Given the description of an element on the screen output the (x, y) to click on. 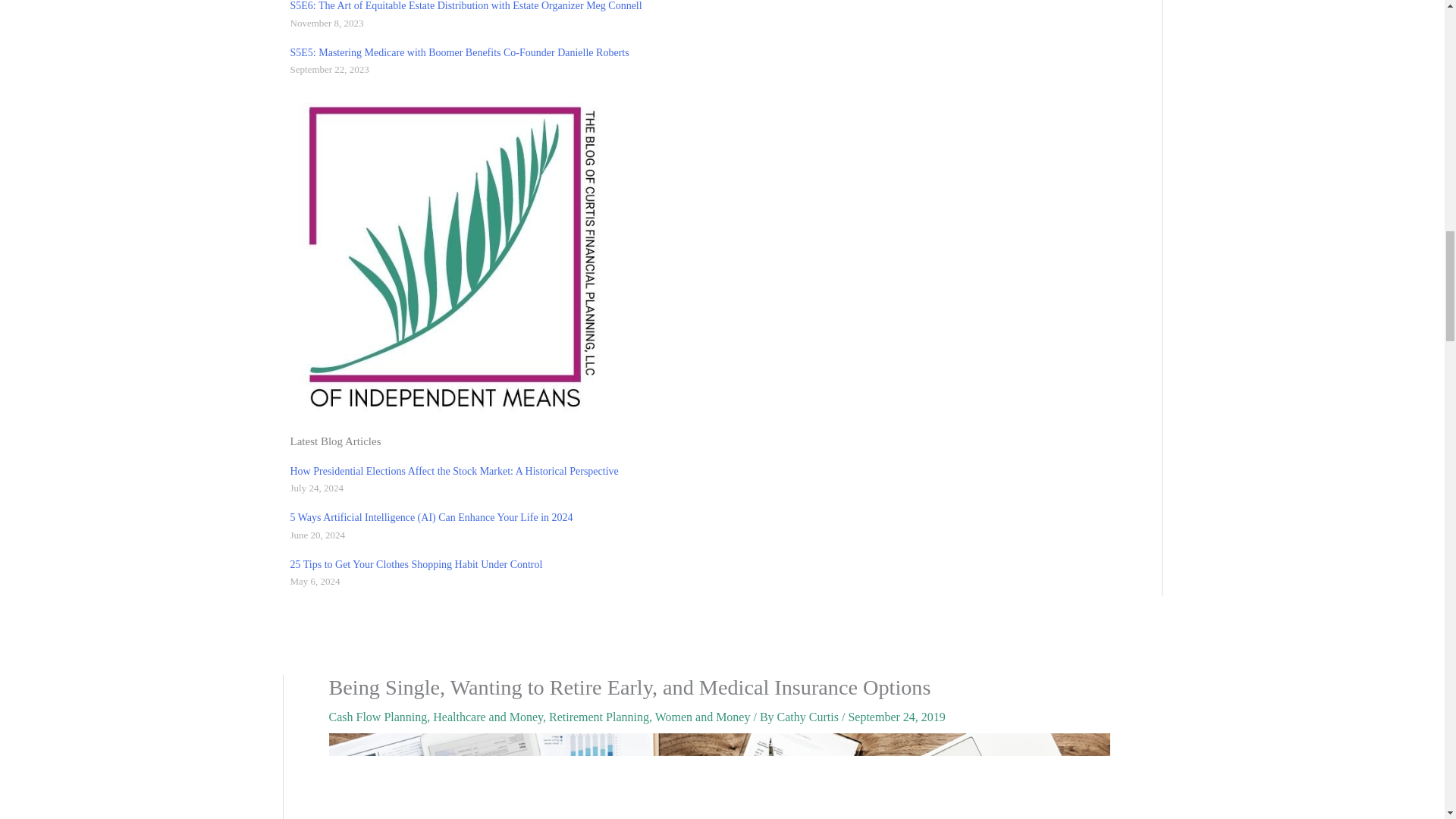
Cash Flow Planning (378, 716)
View all posts by Cathy Curtis (809, 716)
25 Tips to Get Your Clothes Shopping Habit Under Control (415, 564)
